Given the description of an element on the screen output the (x, y) to click on. 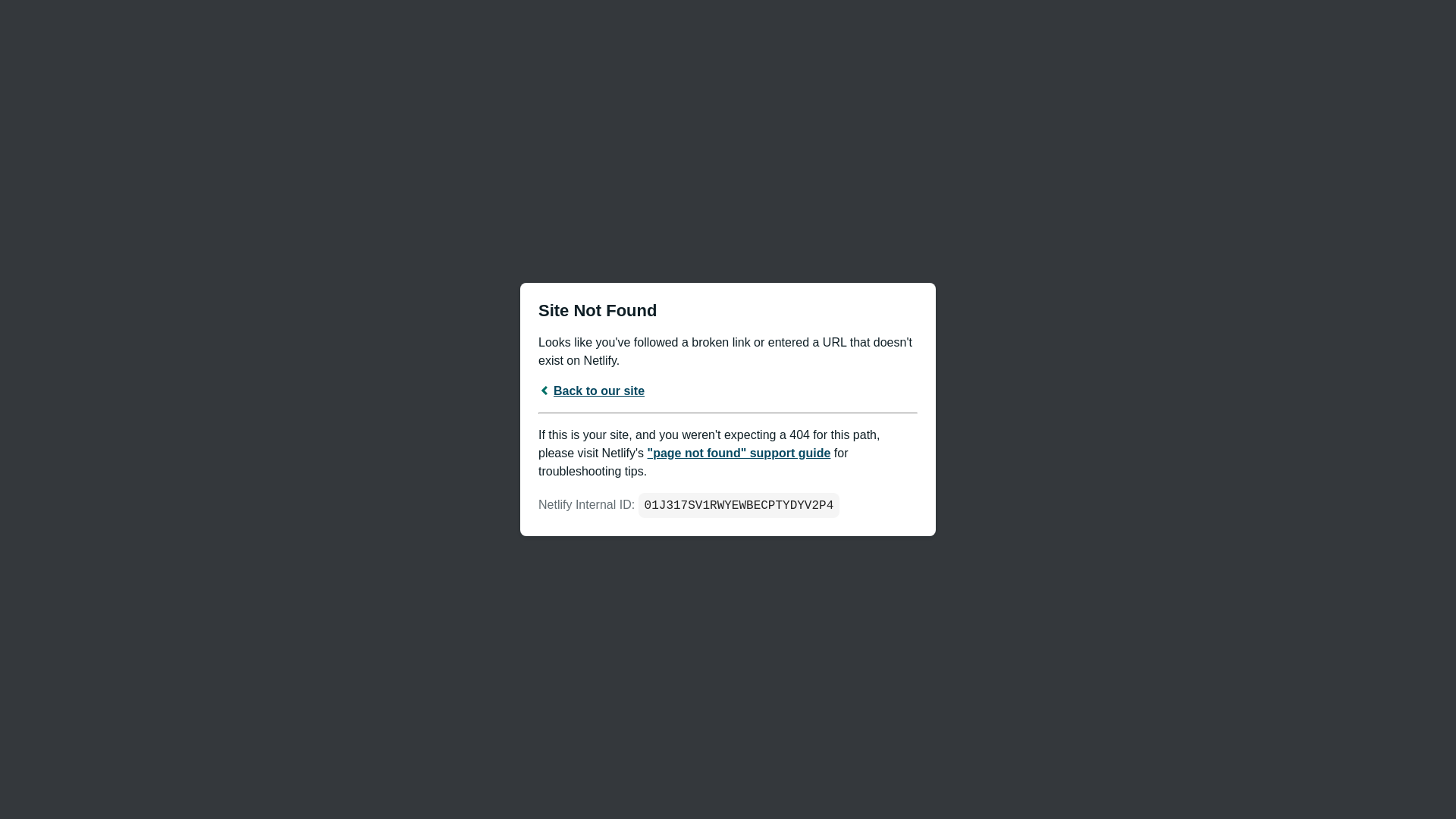
Back to our site (591, 390)
"page not found" support guide (739, 452)
